Given the description of an element on the screen output the (x, y) to click on. 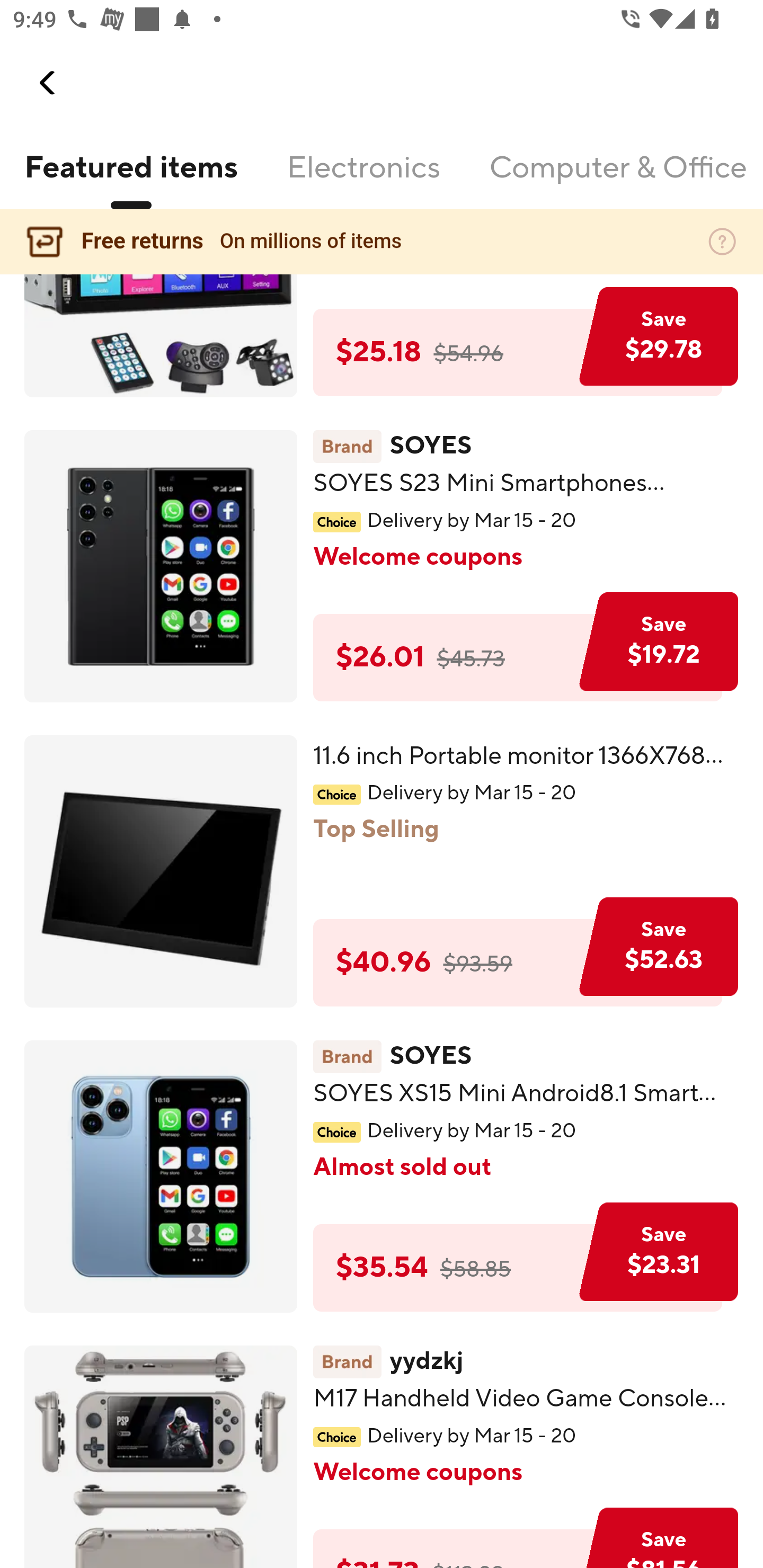
 (48, 82)
Featured items (130, 178)
Electronics (363, 178)
Computer & Office (617, 178)
